Given the description of an element on the screen output the (x, y) to click on. 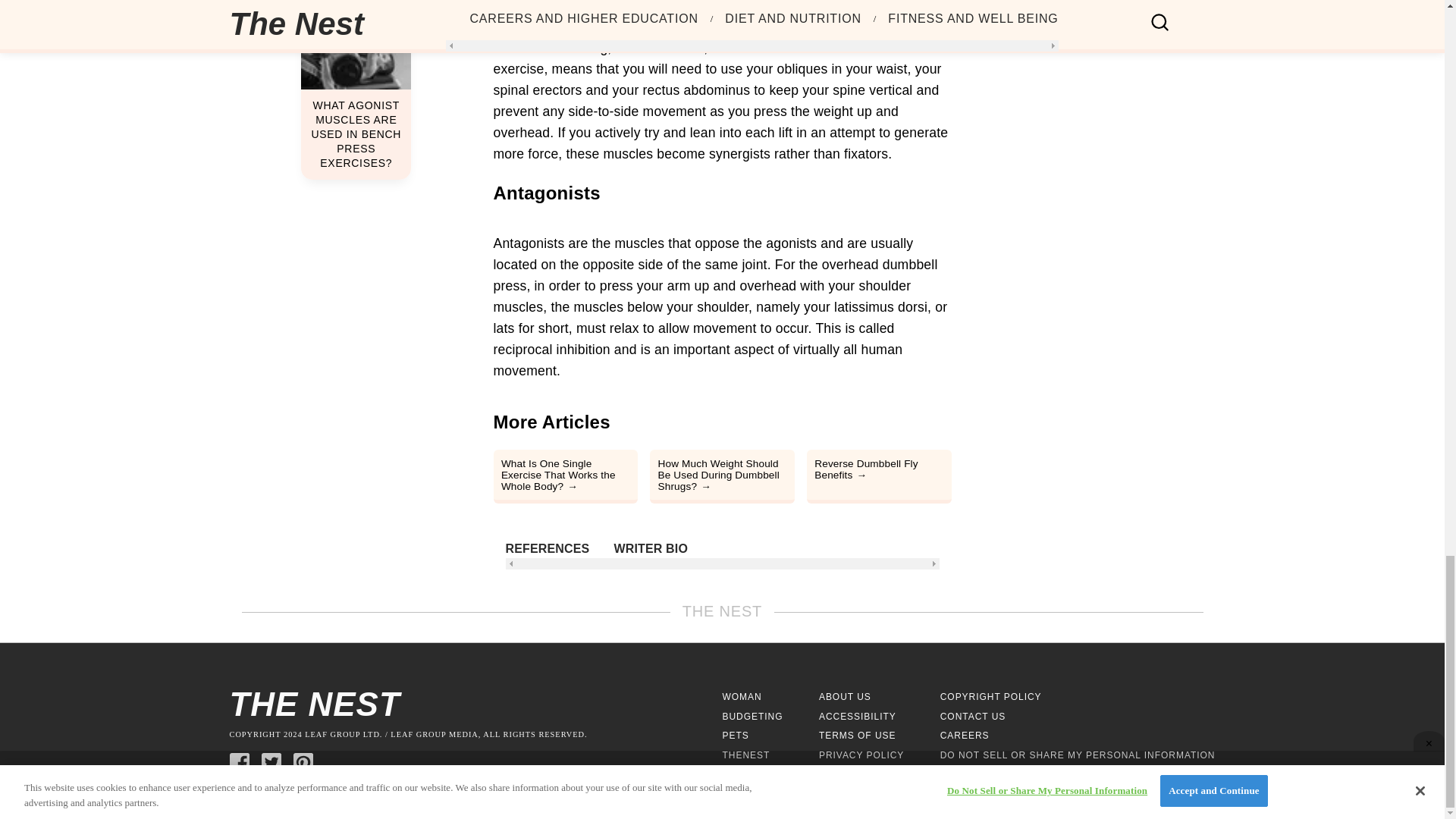
ACCESSIBILITY (857, 715)
ABOUT US (844, 696)
DO NOT SELL OR SHARE MY PERSONAL INFORMATION (1077, 755)
TERMS OF USE (857, 735)
CONTACT US (973, 715)
BUDGETING (752, 715)
PRIVACY POLICY (861, 755)
THE NEST (475, 704)
COPYRIGHT POLICY (991, 696)
WOMAN (741, 696)
PETS (735, 735)
THENEST (746, 755)
CAREERS (965, 735)
